Given the description of an element on the screen output the (x, y) to click on. 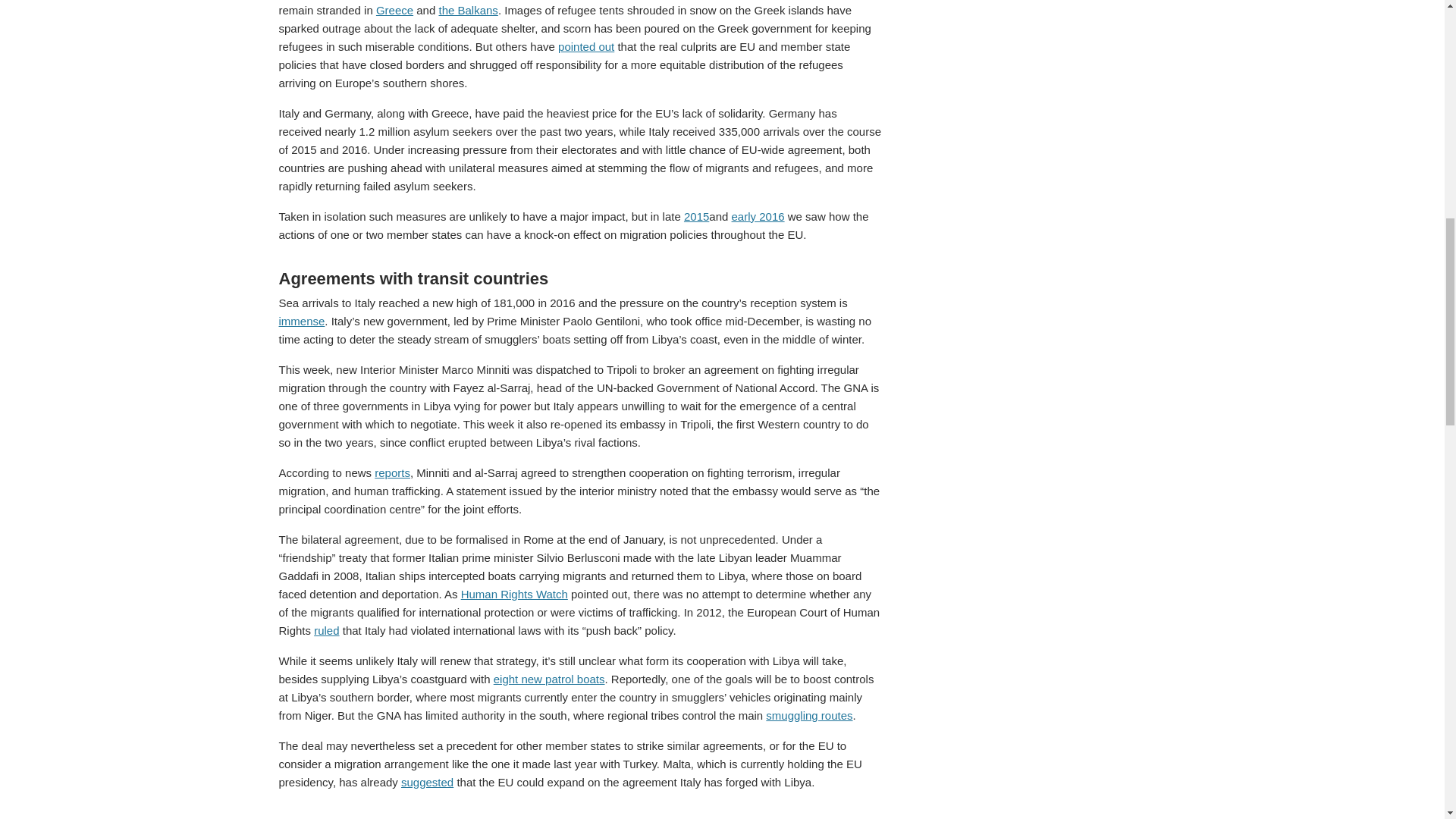
immense (301, 320)
Human Rights Watch (514, 594)
ruled (326, 630)
the Balkans (467, 10)
early 2016 (758, 215)
2015 (696, 215)
Greece (394, 10)
pointed out (585, 46)
reports (392, 472)
